Given the description of an element on the screen output the (x, y) to click on. 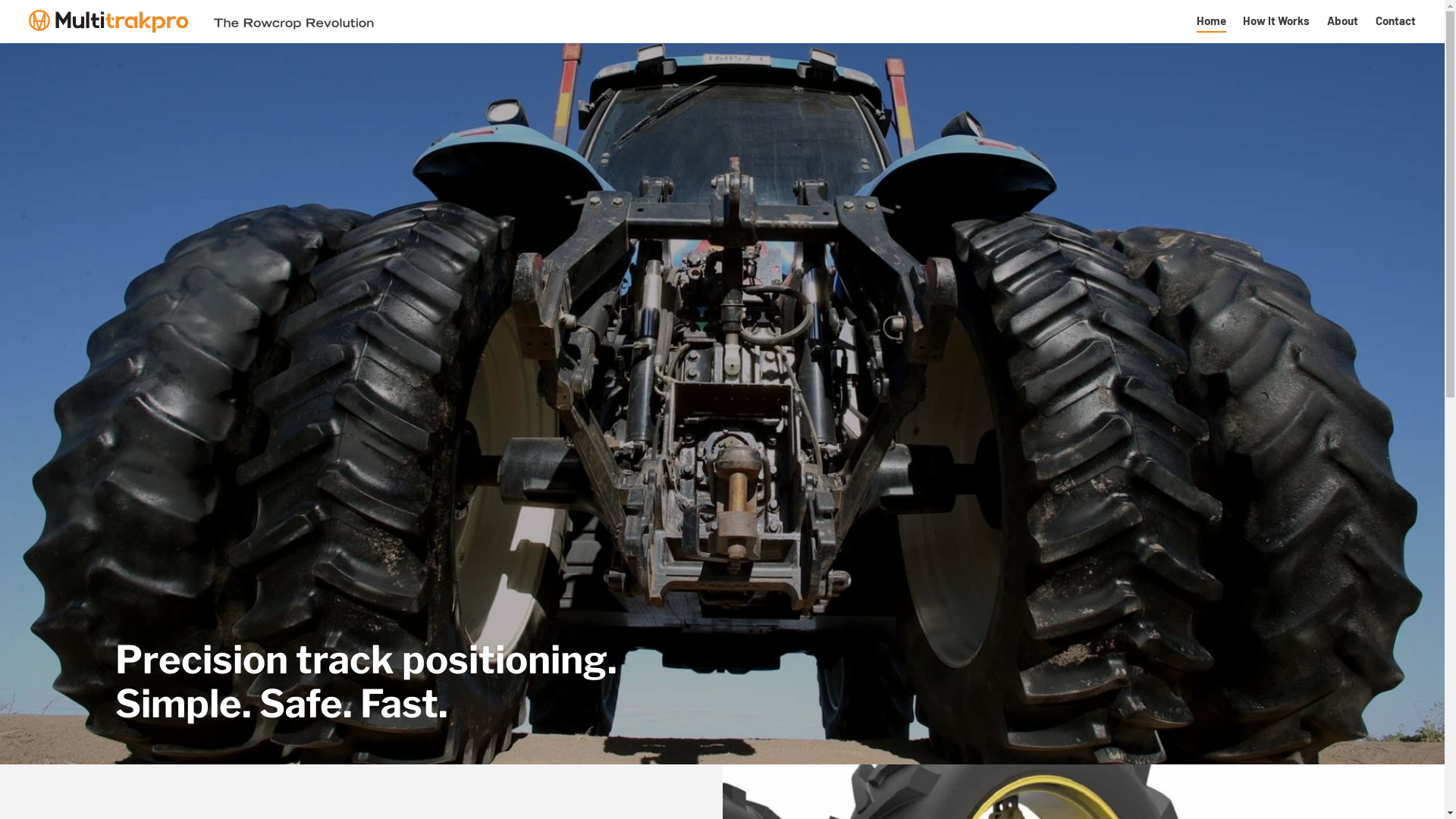
Contact Element type: text (1395, 20)
How It Works Element type: text (1275, 20)
About Element type: text (1342, 20)
Home Element type: text (1211, 20)
